Given the description of an element on the screen output the (x, y) to click on. 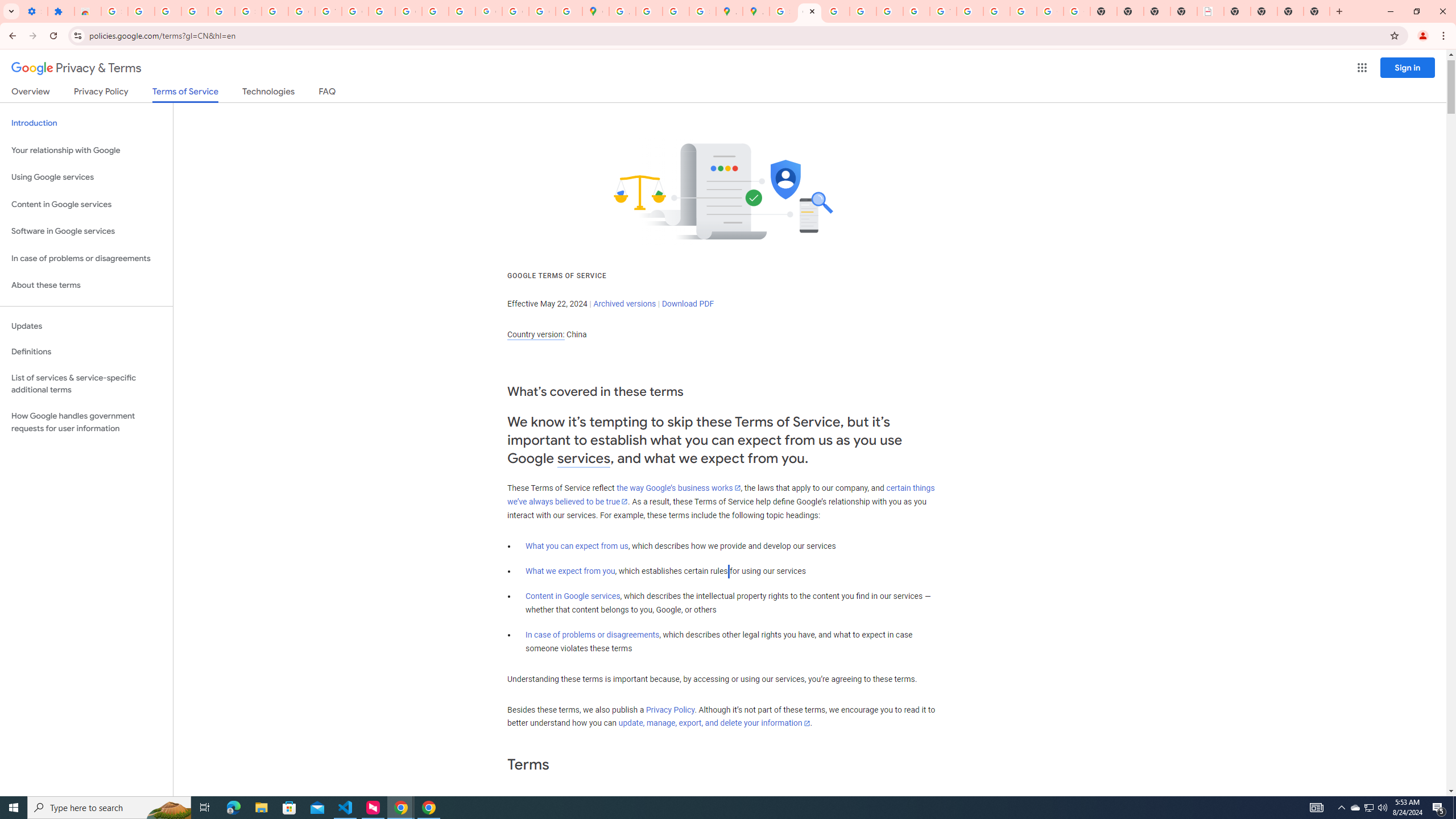
New Tab (1316, 11)
https://scholar.google.com/ (382, 11)
What you can expect from us (576, 545)
New Tab (1290, 11)
update, manage, export, and delete your information (714, 723)
